Given the description of an element on the screen output the (x, y) to click on. 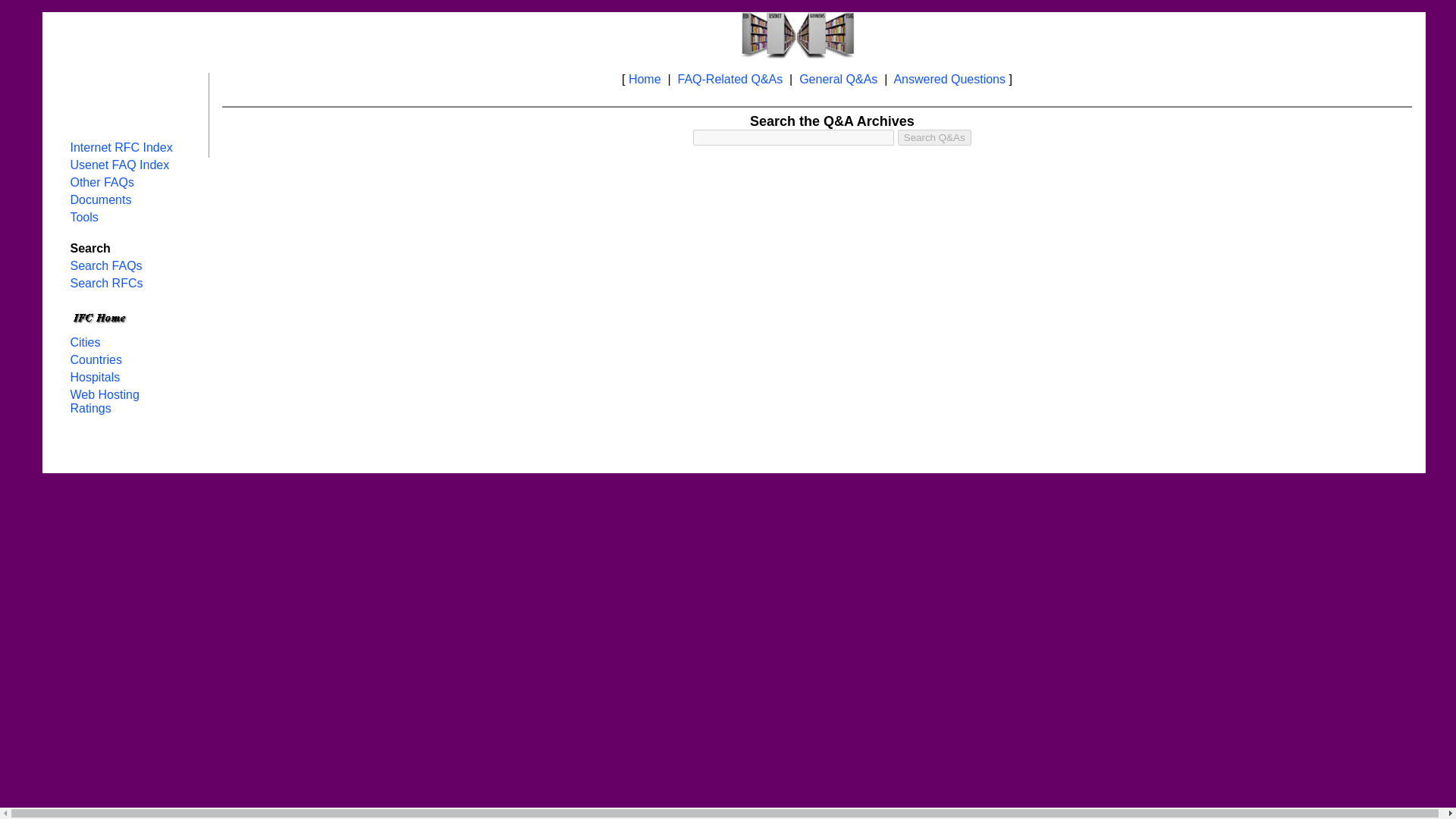
Search RFCs (105, 282)
Search FAQs (105, 265)
Home (644, 78)
Web Hosting Ratings (103, 401)
Countries (94, 359)
Answered Questions (949, 78)
Other FAQs (101, 182)
Documents (100, 199)
Hospitals (94, 377)
Internet RFC Index (120, 146)
